Given the description of an element on the screen output the (x, y) to click on. 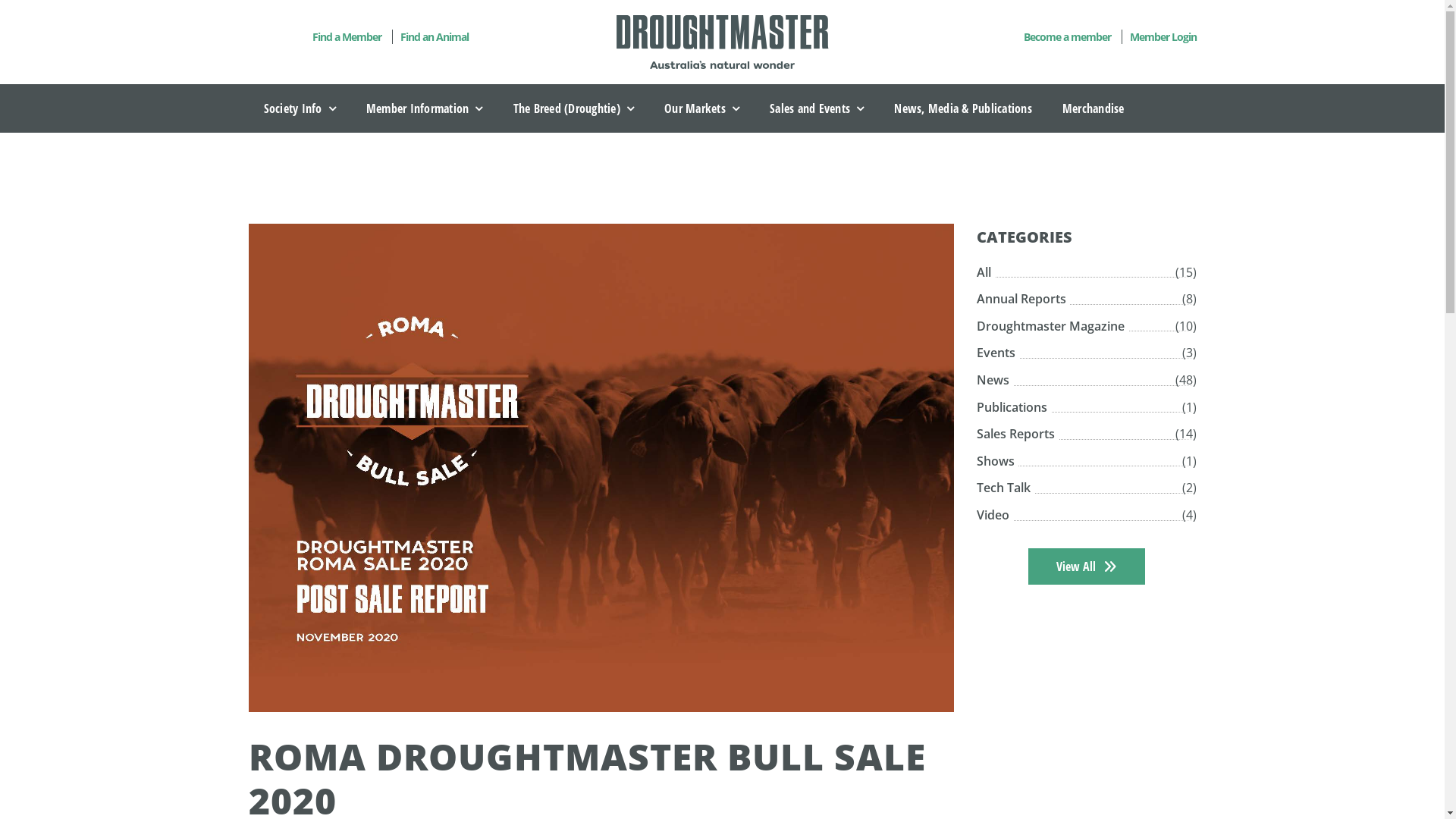
Society Info Element type: text (299, 108)
View All Element type: text (1086, 566)
Find an Animal Element type: text (429, 36)
Sales Reports Element type: text (1017, 434)
Member Login Element type: text (1157, 36)
All Element type: text (985, 272)
Events Element type: text (997, 353)
Find a Member Element type: text (346, 36)
Our Markets Element type: text (701, 108)
Video Element type: text (994, 515)
Become a member Element type: text (1066, 36)
Merchandise Element type: text (1093, 108)
News, Media & Publications Element type: text (962, 108)
Tech Talk Element type: text (1005, 488)
The Breed (Droughtie) Element type: text (573, 108)
Annual Reports Element type: text (1023, 299)
Publications Element type: text (1013, 407)
Sales and Events Element type: text (816, 108)
News Element type: text (994, 380)
Droughtmaster Magazine Element type: text (1052, 326)
Member Information Element type: text (424, 108)
Shows Element type: text (997, 461)
